Given the description of an element on the screen output the (x, y) to click on. 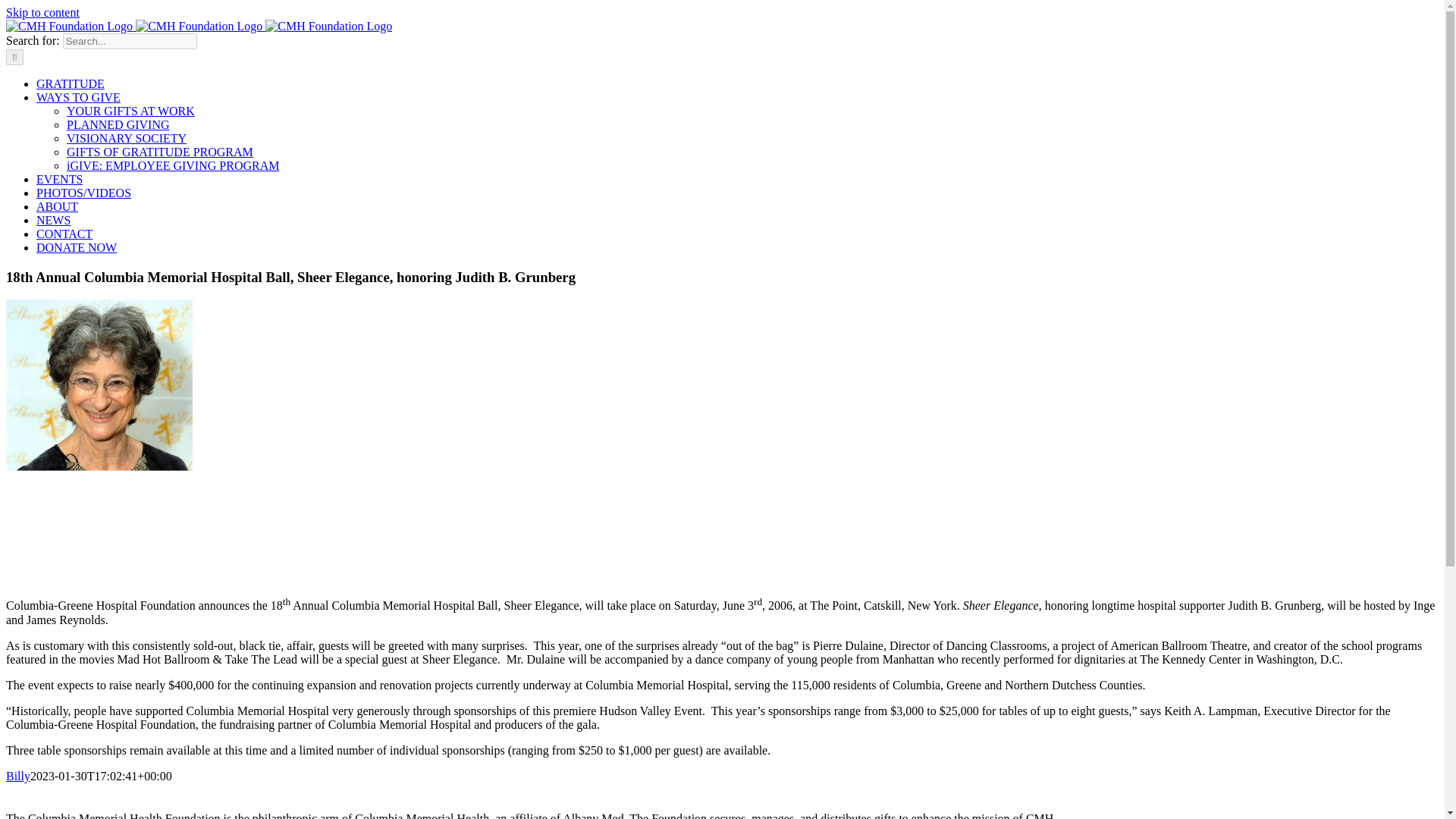
ABOUT (57, 205)
YOUR GIFTS AT WORK (130, 110)
iGIVE: EMPLOYEE GIVING PROGRAM (172, 164)
Skip to content (42, 11)
EVENTS (59, 178)
GIFTS OF GRATITUDE PROGRAM (159, 151)
Billy (17, 775)
PLANNED GIVING (118, 124)
NEWS (52, 219)
GRATITUDE (70, 83)
VISIONARY SOCIETY (126, 137)
CONTACT (64, 233)
WAYS TO GIVE (78, 97)
DONATE NOW (76, 246)
Posts by Billy (17, 775)
